Given the description of an element on the screen output the (x, y) to click on. 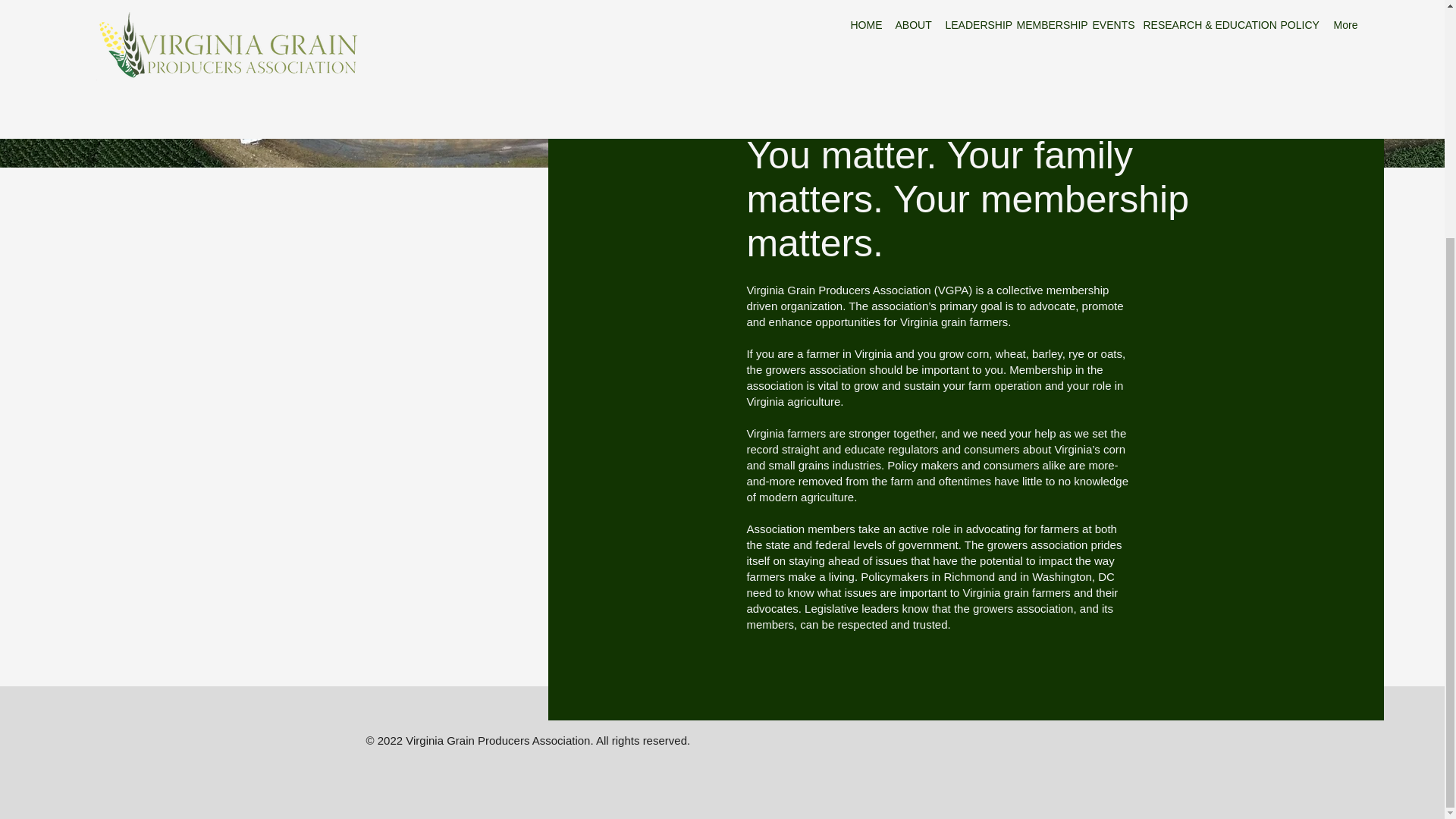
2023 Annual Report (1100, 110)
